Given the description of an element on the screen output the (x, y) to click on. 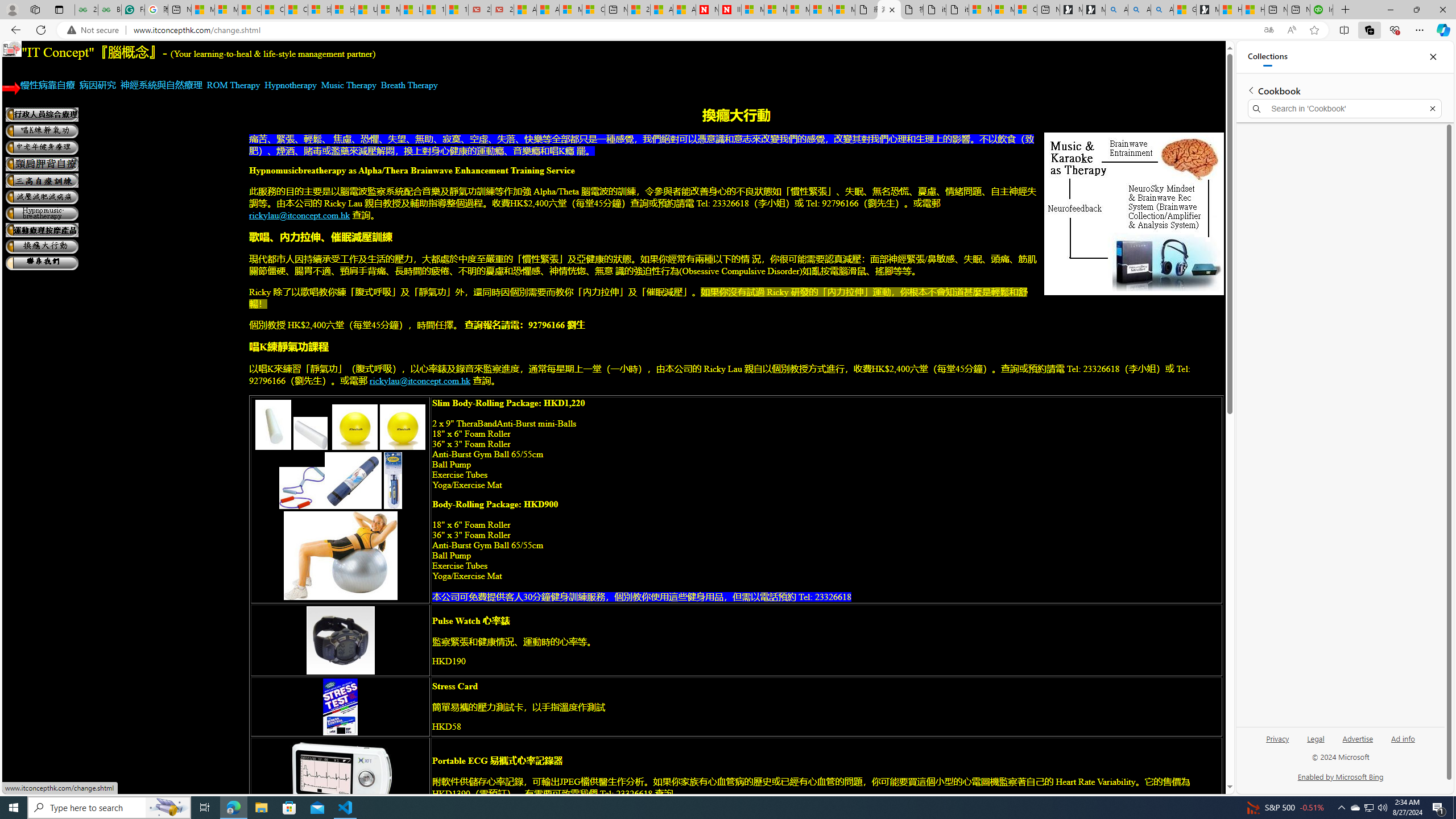
Microsoft Start Gaming (1207, 9)
New Tab (1346, 9)
Restore (1416, 9)
Alabama high school quarterback dies - Search (1116, 9)
Close (1432, 56)
Tab actions menu (58, 9)
Breath Therapy (409, 85)
21 Movies That Outdid the Books They Were Based On (502, 9)
Free AI Writing Assistance for Students | Grammarly (132, 9)
New tab (1298, 9)
